Given the description of an element on the screen output the (x, y) to click on. 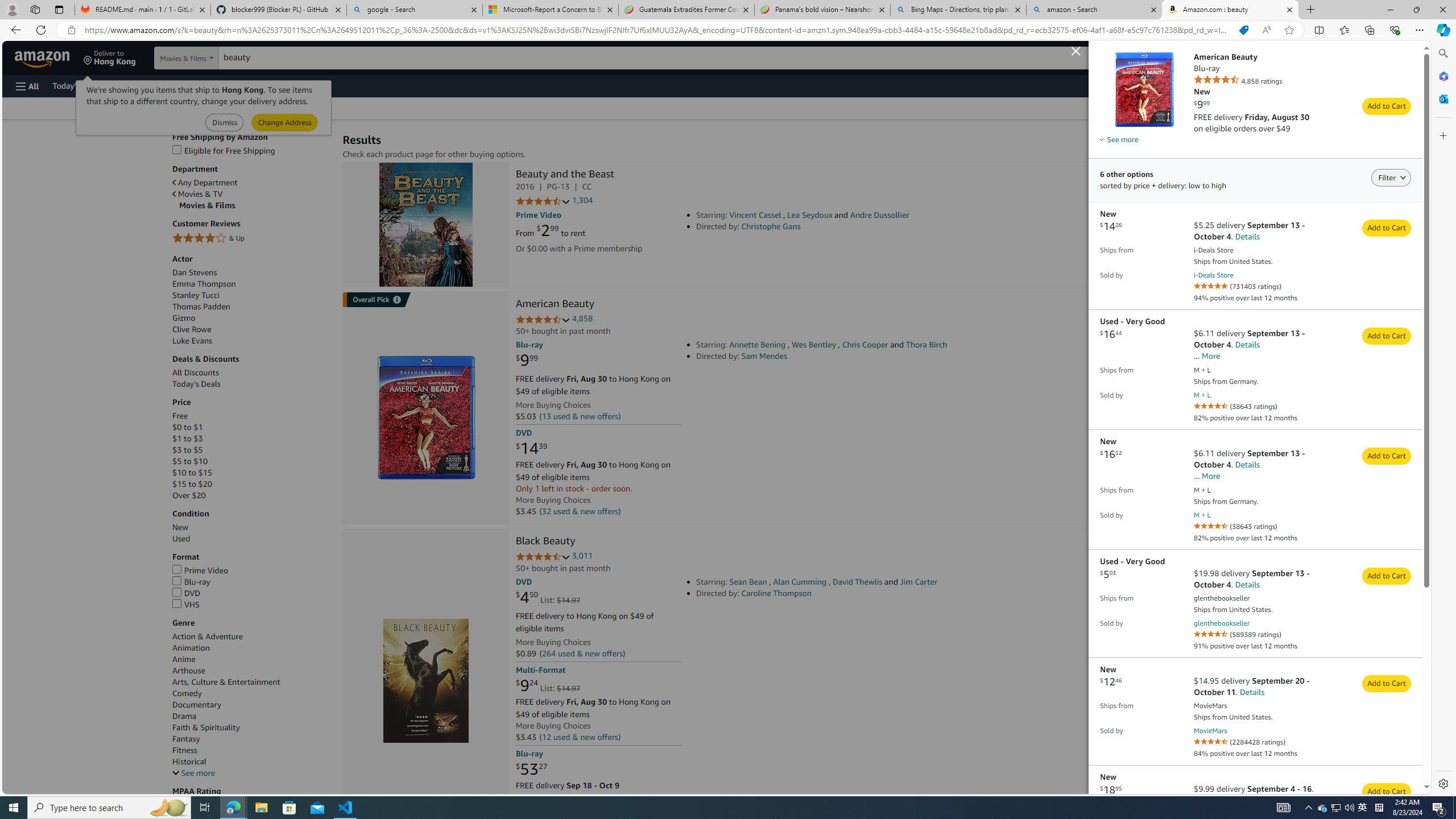
Go to Cart (1393, 133)
Free (179, 415)
$53.27 (531, 768)
Action & Adventure (207, 636)
Lea Seydoux (809, 214)
(264 used & new offers) (582, 653)
More. about shipping (1210, 475)
Sort by: (1152, 108)
Movies & TV (196, 194)
See more, Genre (193, 773)
Personal Profile (12, 9)
Historical (251, 761)
$0 to $1 (251, 427)
Faith & Spirituality (251, 727)
Over $20 (188, 495)
